Given the description of an element on the screen output the (x, y) to click on. 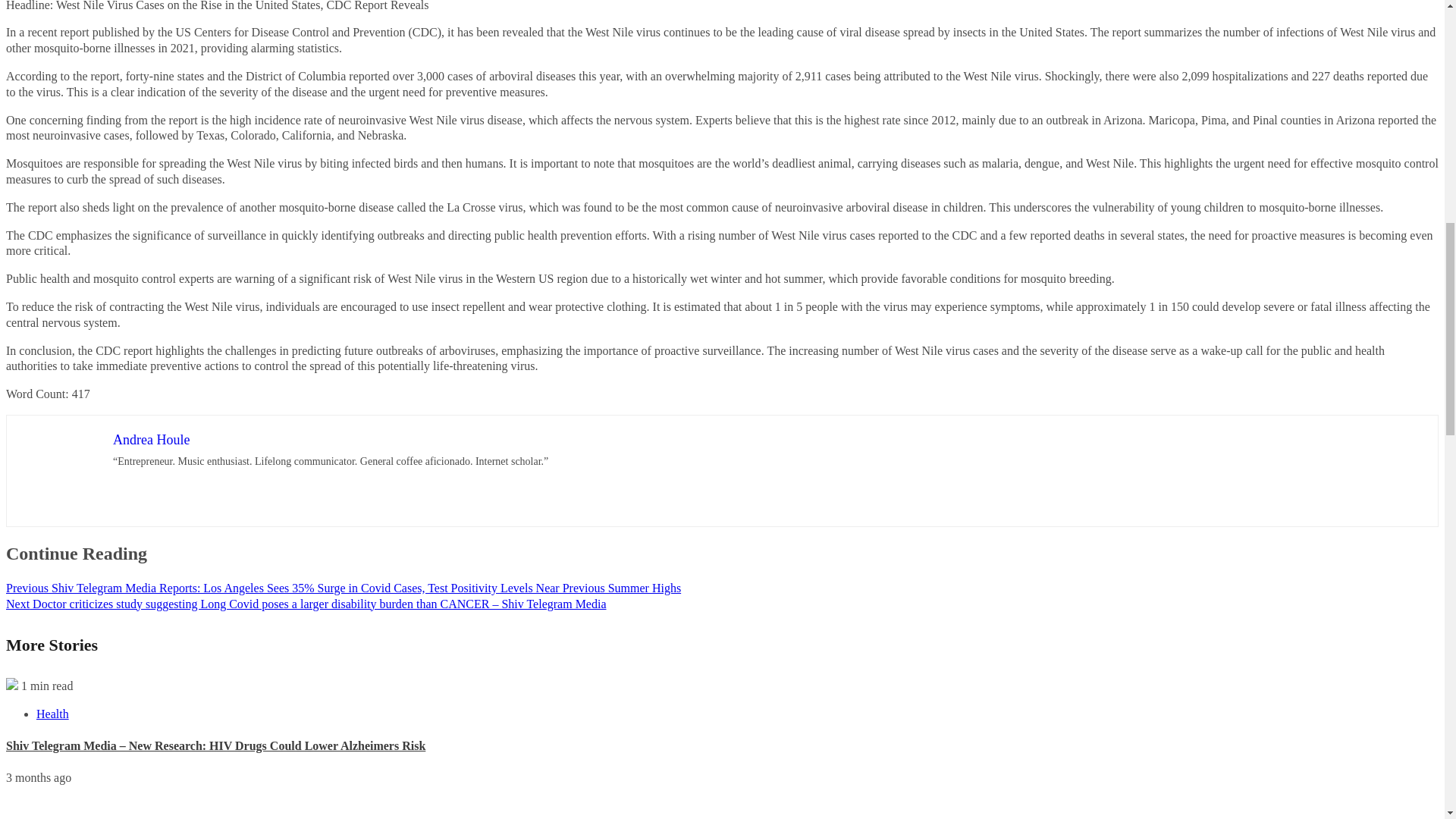
Andrea Houle (151, 439)
Health (52, 713)
